Given the description of an element on the screen output the (x, y) to click on. 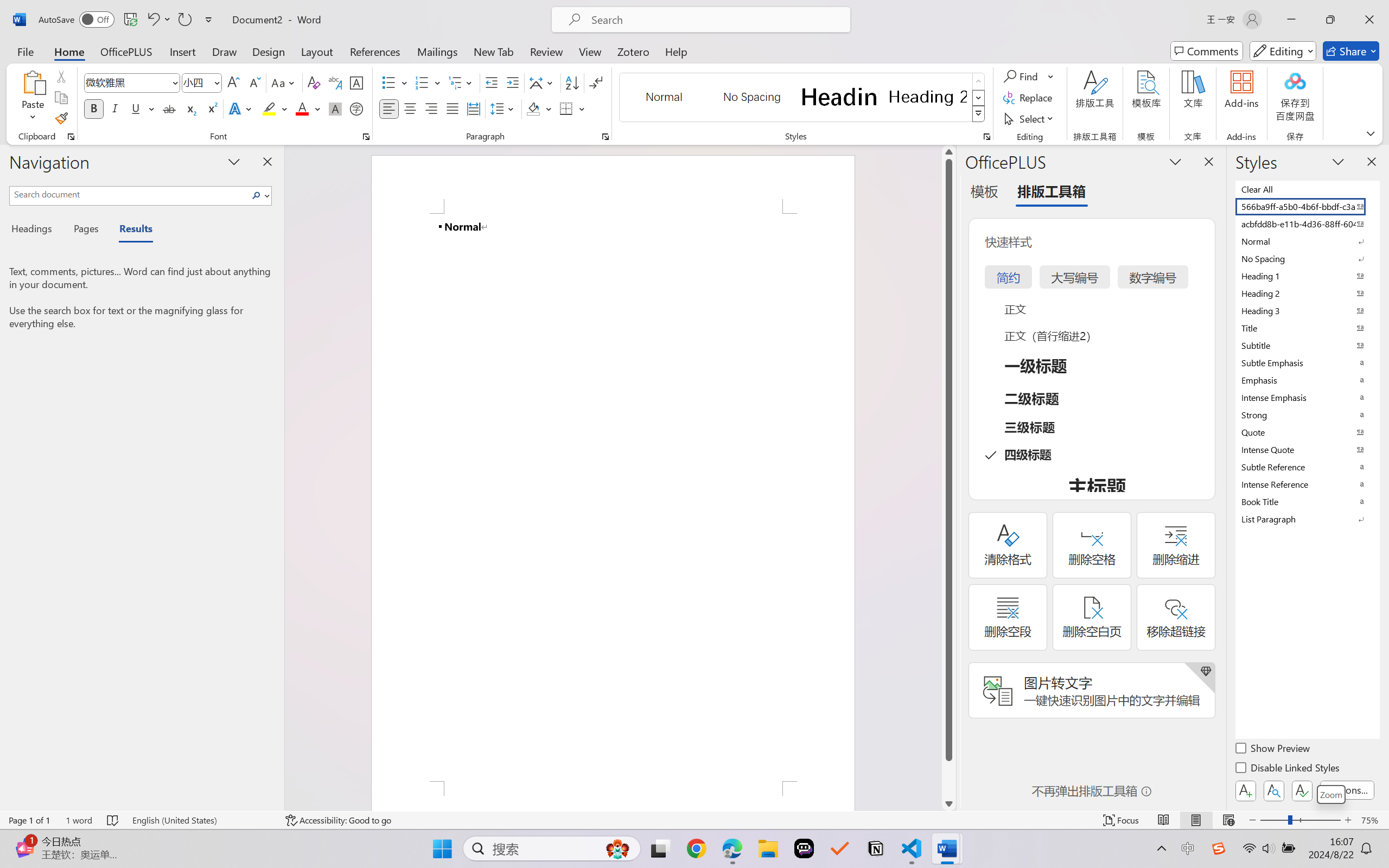
Subtle Reference (1306, 466)
Insert (182, 51)
Focus  (1121, 819)
Read Mode (1163, 819)
Quick Access Toolbar (127, 19)
Bullets (395, 82)
Font Size (201, 82)
References (375, 51)
Results (130, 229)
Undo Text Fill Effect (158, 19)
File Tab (24, 51)
Justify (452, 108)
